Given the description of an element on the screen output the (x, y) to click on. 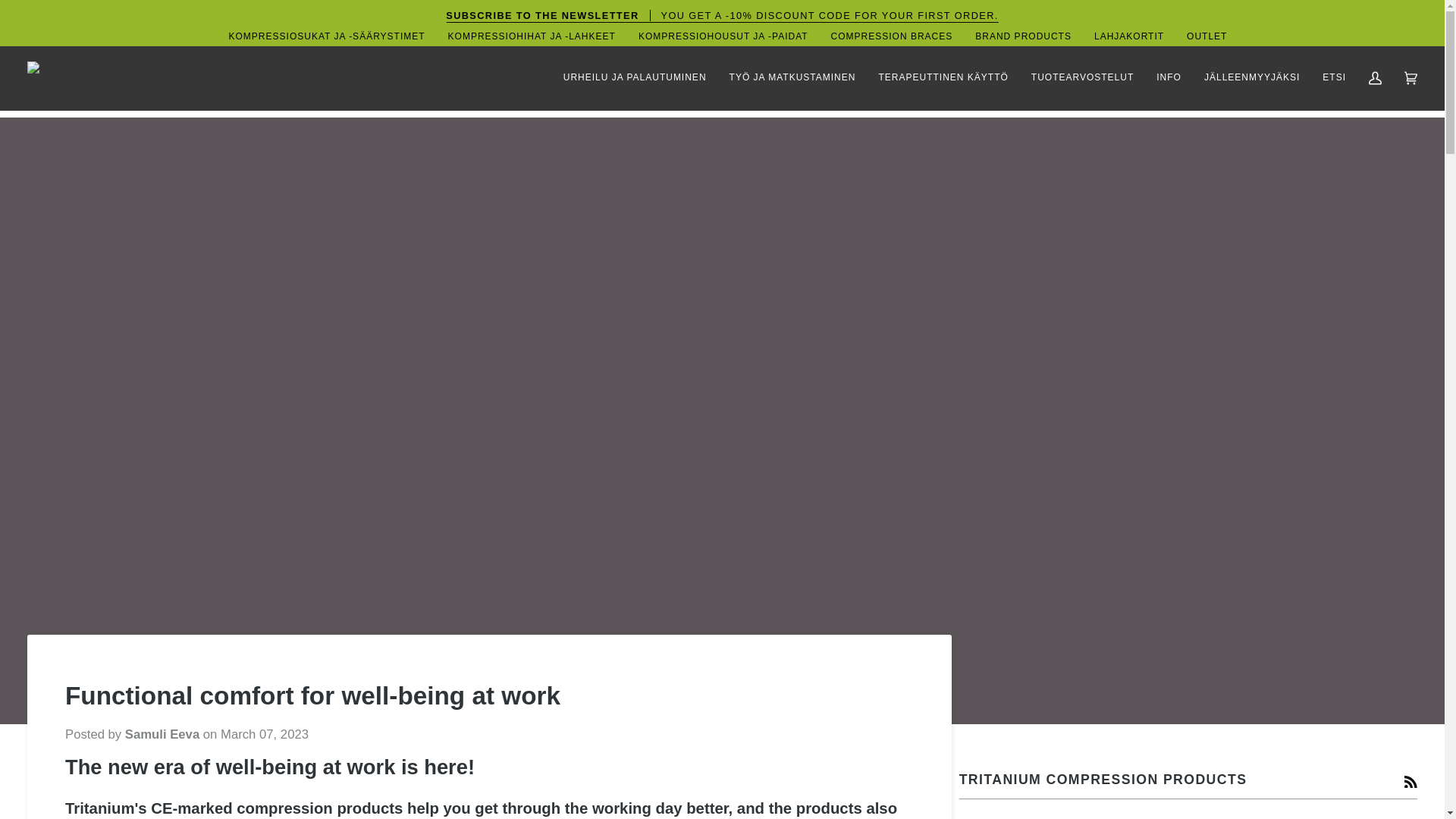
BRAND PRODUCTS (1023, 36)
TUOTEARVOSTELUT (1082, 77)
Newsletter subscription (721, 15)
LAHJAKORTIT (1128, 36)
COMPRESSION BRACES (891, 36)
URHEILU JA PALAUTUMINEN (634, 77)
KOMPRESSIOHIHAT JA -LAHKEET (531, 36)
KOMPRESSIOHOUSUT JA -PAIDAT (723, 36)
OUTLET (1206, 36)
